Given the description of an element on the screen output the (x, y) to click on. 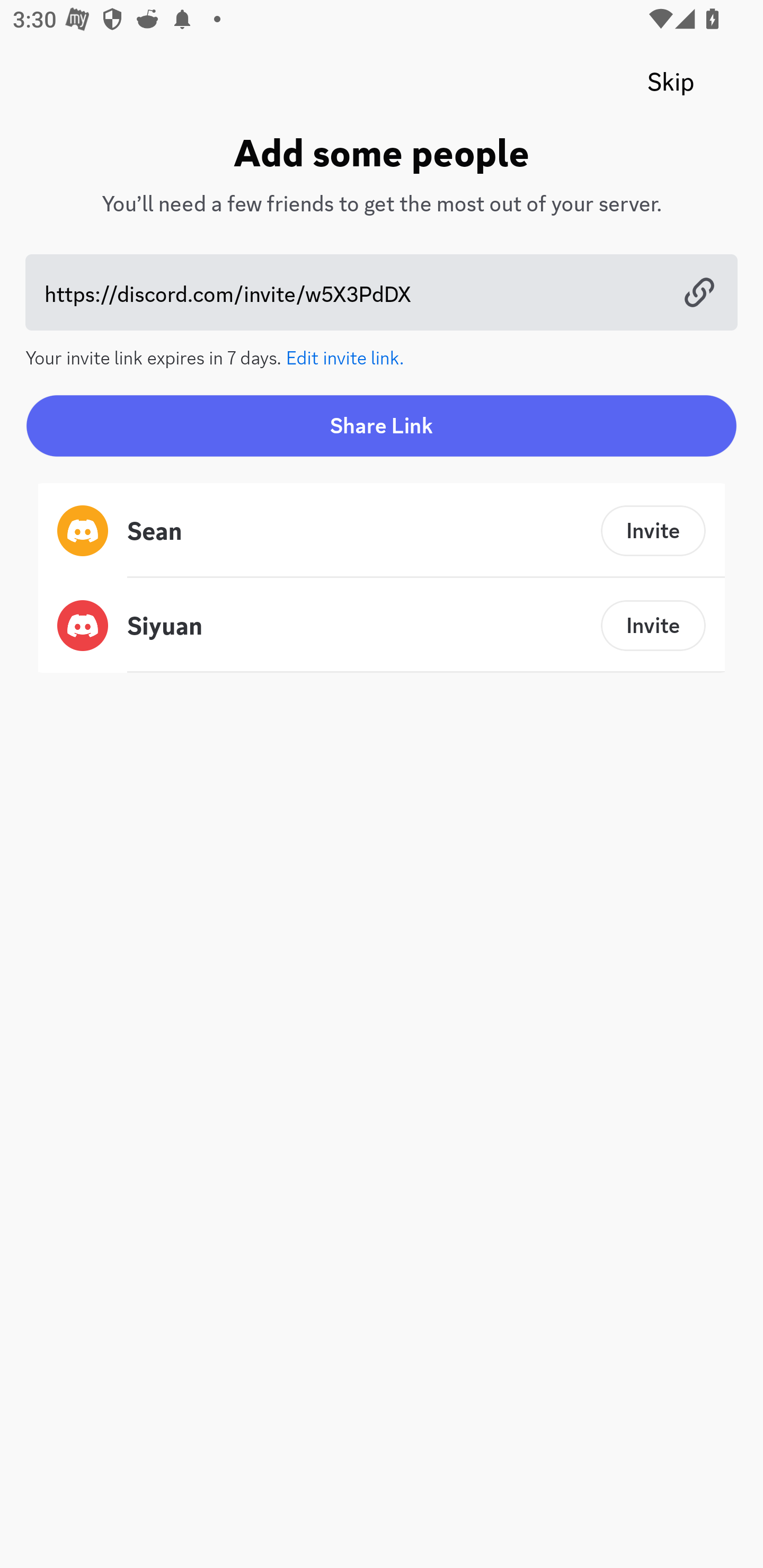
Skip (670, 82)
Copy Link https://discord.com/invite/w5X3PdDX (381, 292)
Edit invite link. (345, 355)
Share Link (381, 425)
Invite (653, 530)
Invite (653, 625)
